Given the description of an element on the screen output the (x, y) to click on. 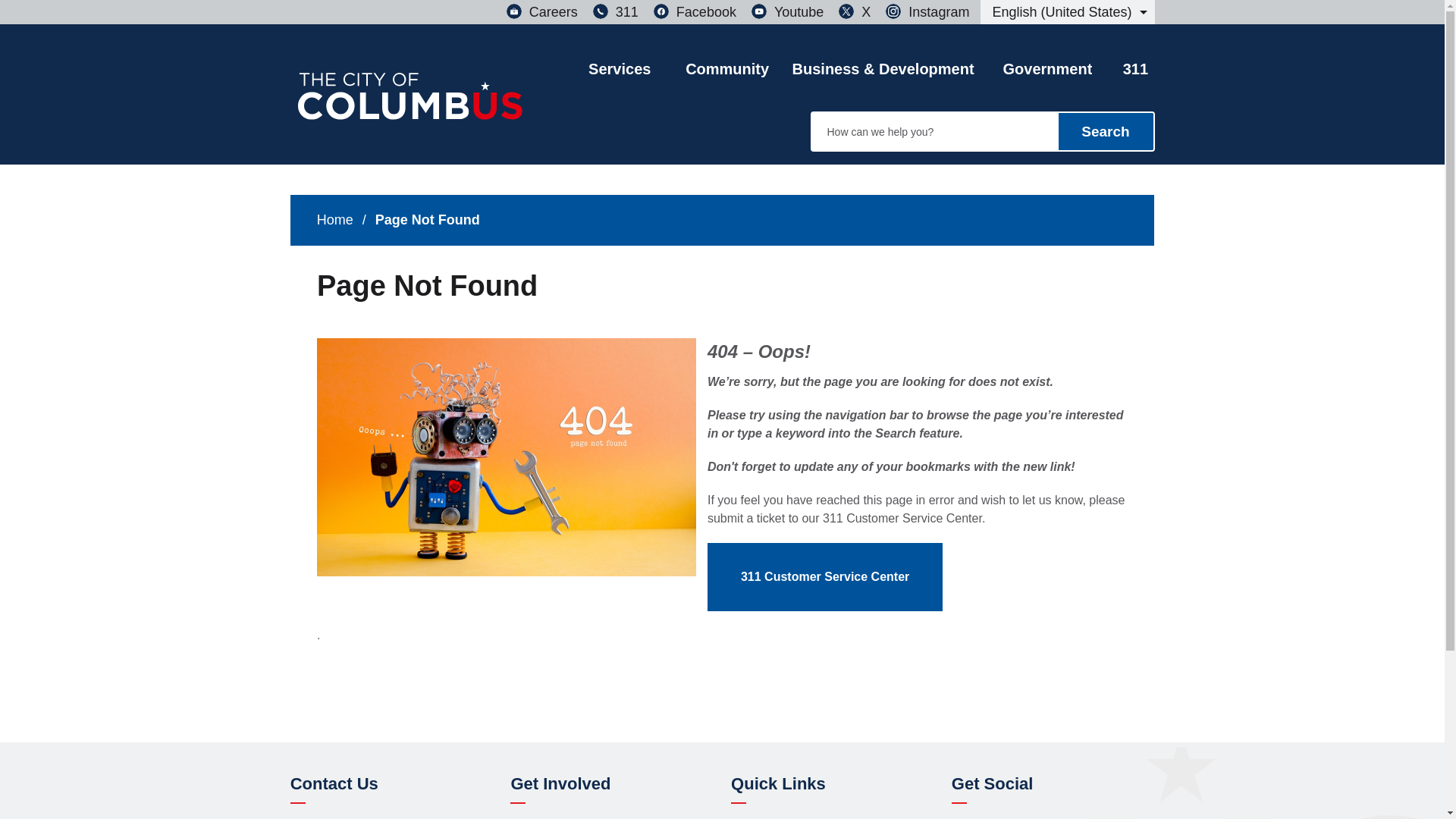
City of Columbus, Ohio - Home - Logo (410, 105)
Youtube (787, 11)
X (854, 11)
Services (619, 54)
Search (1105, 131)
Instagram (927, 11)
Search (1105, 131)
Careers (542, 11)
311 (615, 11)
Facebook (694, 11)
